Given the description of an element on the screen output the (x, y) to click on. 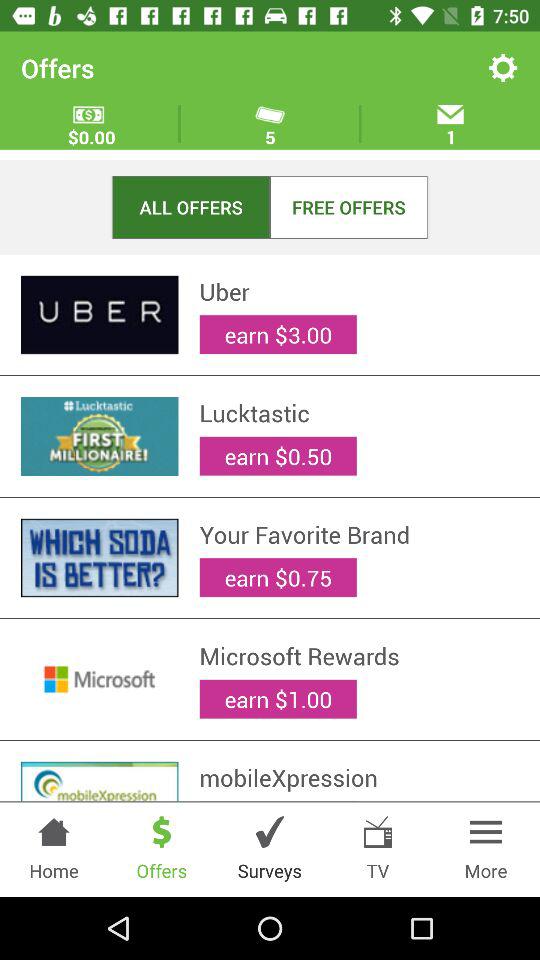
select the item below 5 item (348, 206)
